Given the description of an element on the screen output the (x, y) to click on. 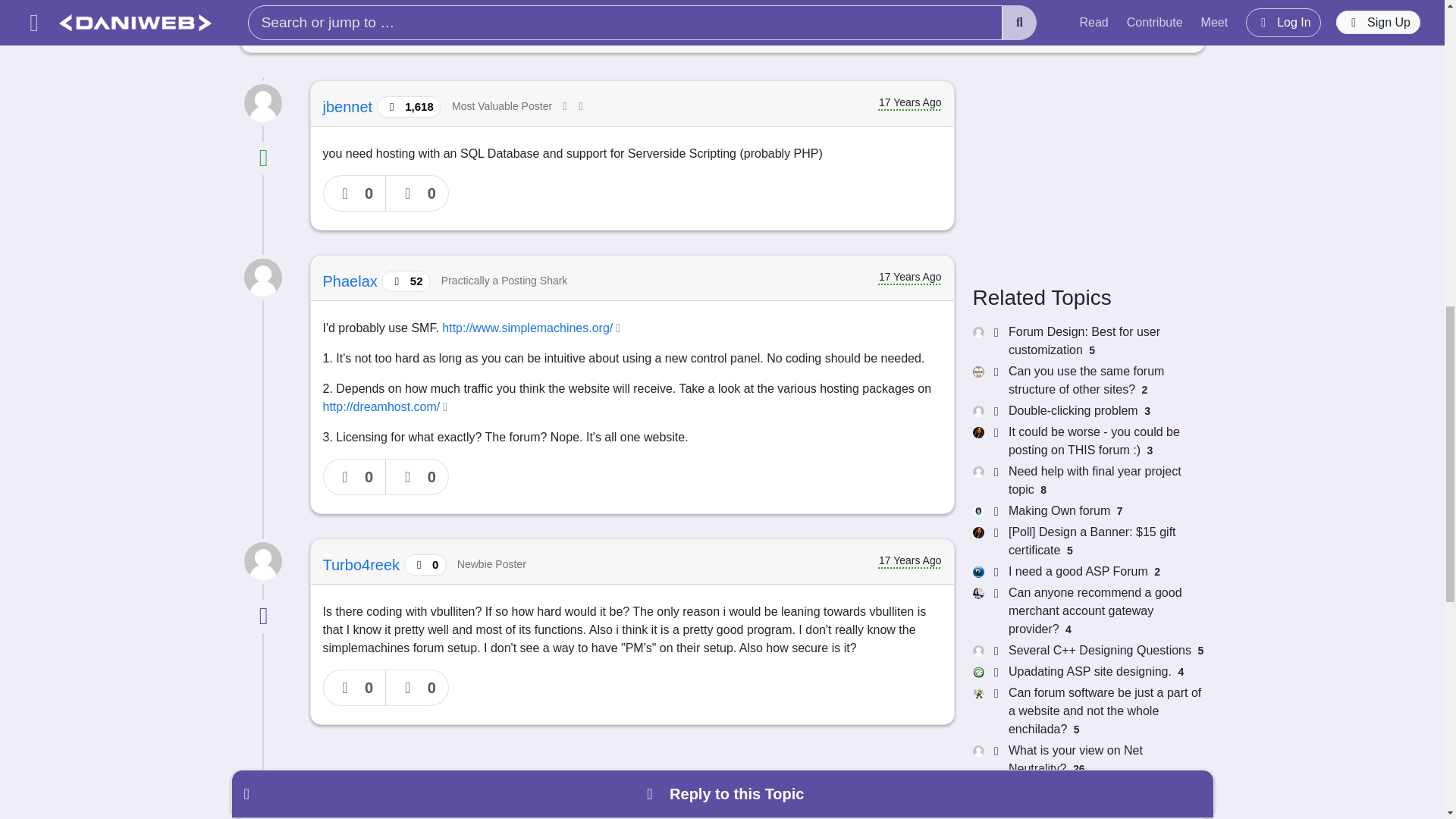
Phaelax (352, 280)
jbennet (350, 106)
0 (355, 687)
0 (416, 193)
0 (355, 193)
0 (416, 687)
0 (416, 476)
17 Years Ago (1052, 7)
0 (355, 476)
Turbo4reek (363, 564)
